Given the description of an element on the screen output the (x, y) to click on. 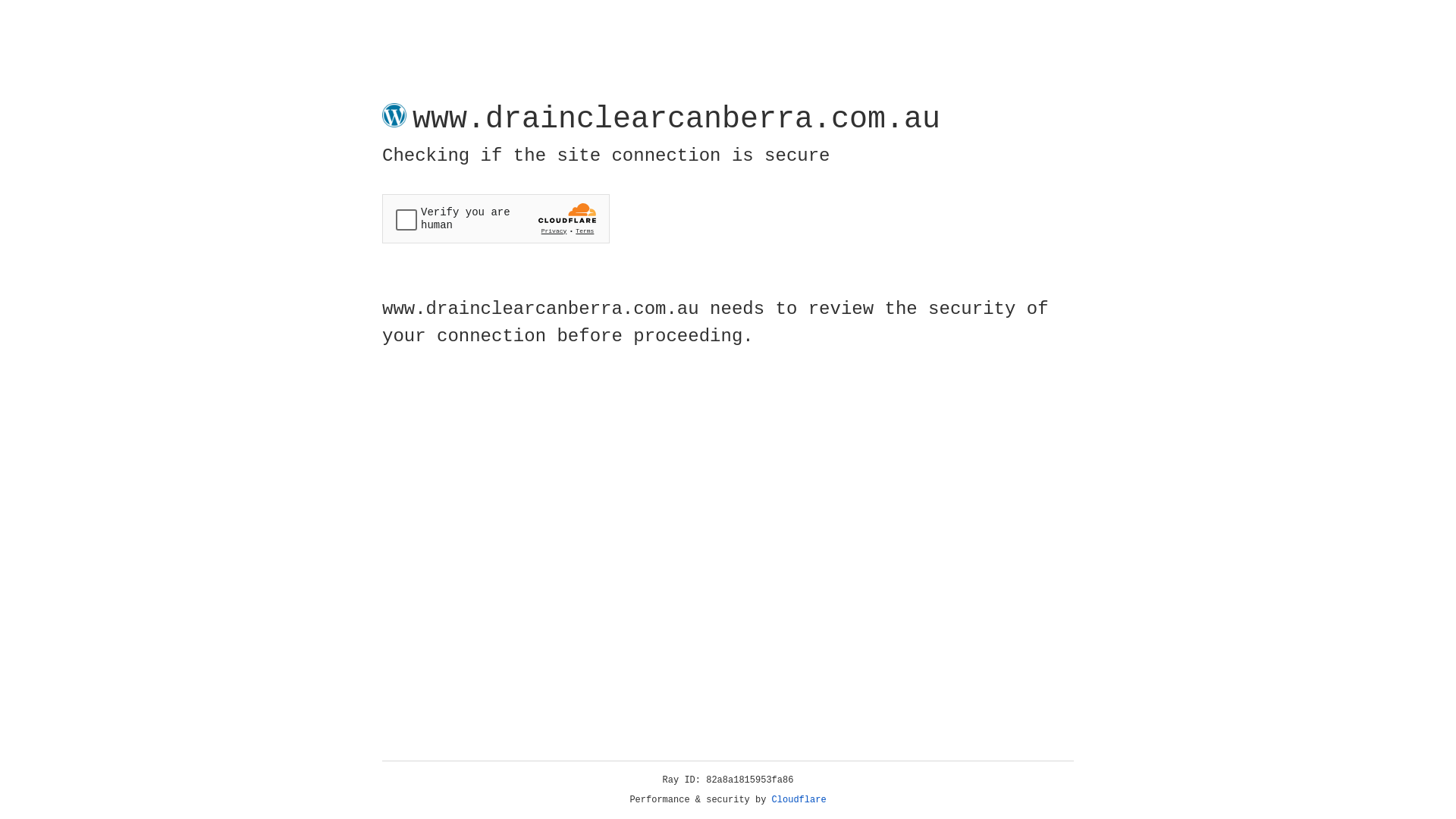
Cloudflare Element type: text (798, 799)
Widget containing a Cloudflare security challenge Element type: hover (495, 218)
